Given the description of an element on the screen output the (x, y) to click on. 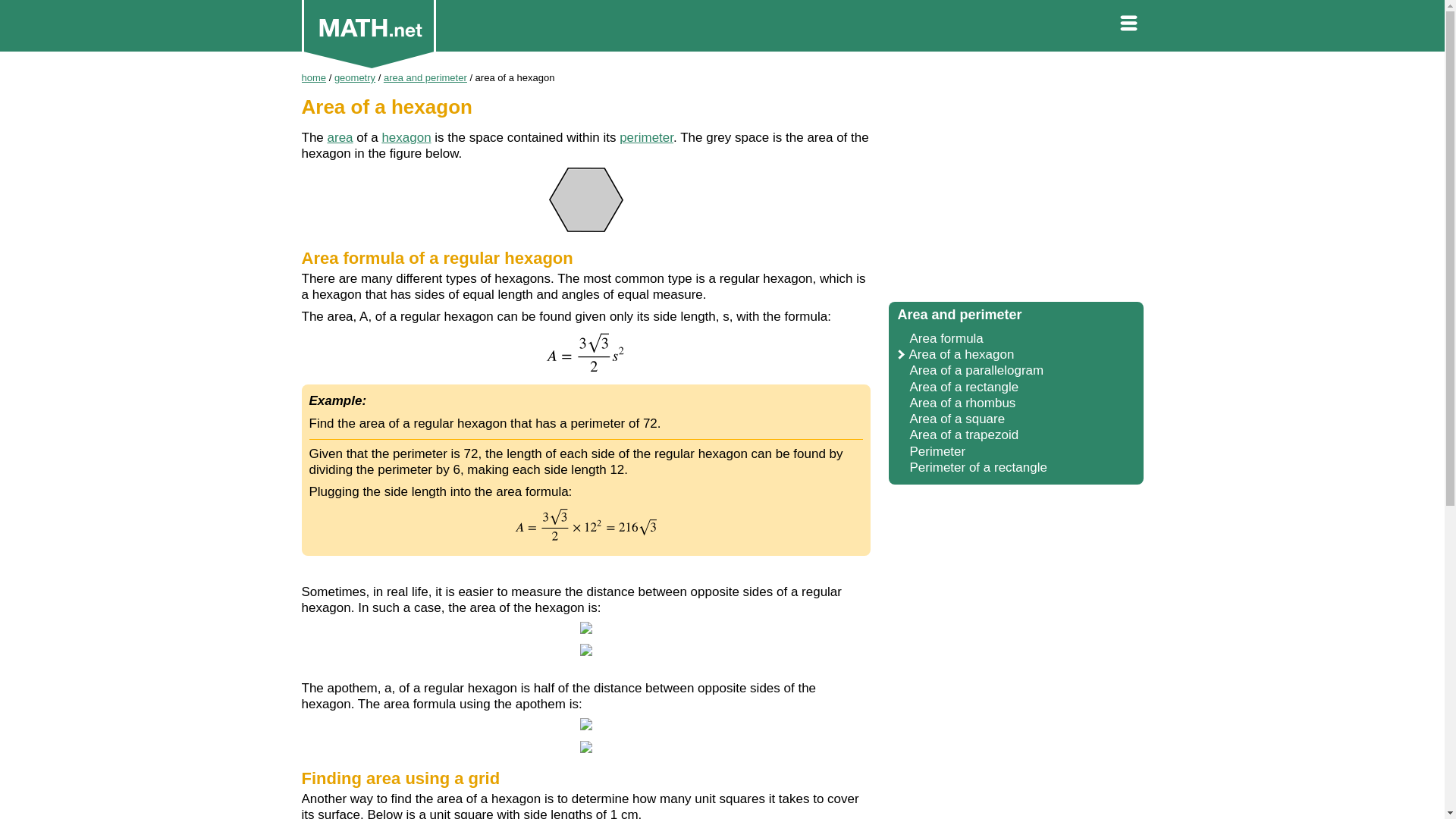
Area of a rhombus (963, 402)
home (313, 77)
area (340, 137)
Area of a trapezoid (964, 434)
Area of a parallelogram (976, 370)
Area formula (947, 338)
geometry (354, 77)
Area of a hexagon (960, 354)
hexagon (405, 137)
Perimeter (938, 451)
Area of a rectangle (964, 386)
Area of a square (958, 418)
area and perimeter (425, 77)
Perimeter of a rectangle (978, 467)
perimeter (646, 137)
